Given the description of an element on the screen output the (x, y) to click on. 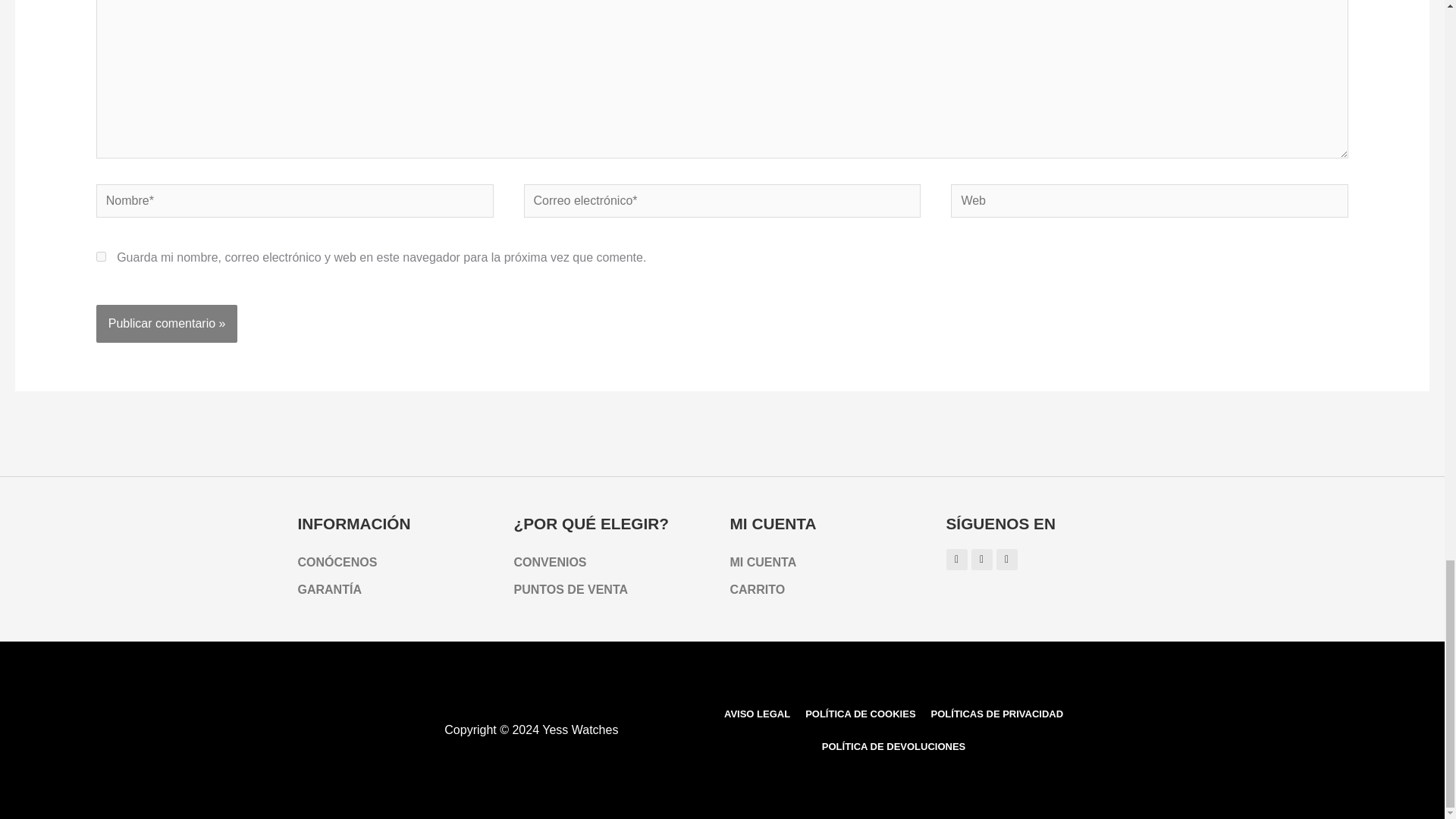
PUNTOS DE VENTA (613, 589)
Pinterest (981, 559)
yes (101, 256)
CARRITO (829, 589)
Instagram (957, 559)
CONVENIOS (613, 562)
MI CUENTA (829, 562)
